Given the description of an element on the screen output the (x, y) to click on. 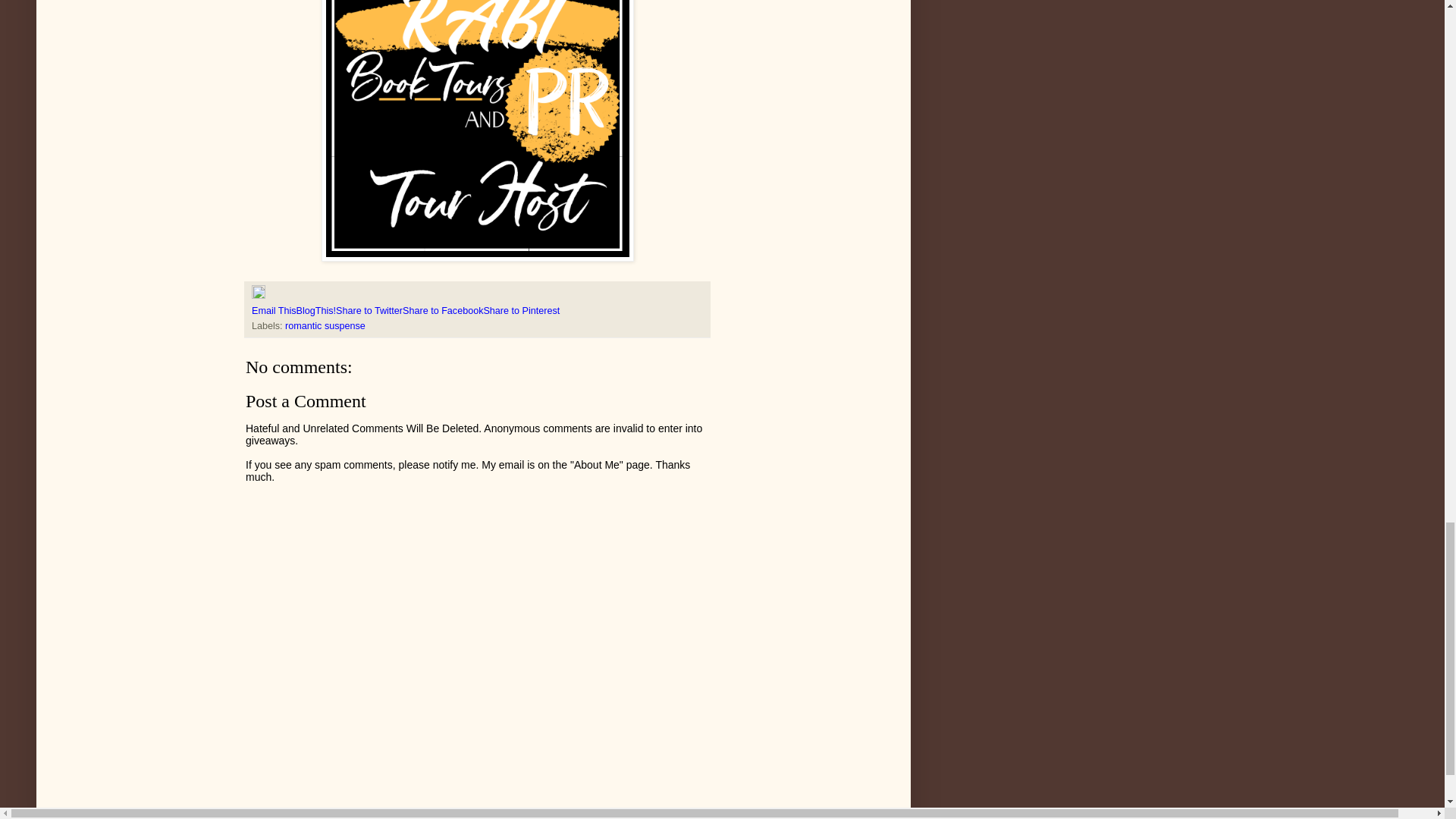
BlogThis! (316, 310)
Share to Pinterest (521, 310)
BlogThis! (316, 310)
Share to Pinterest (521, 310)
Email This (274, 310)
Email This (274, 310)
Edit Post (257, 295)
Share to Facebook (443, 310)
romantic suspense (325, 326)
Share to Facebook (443, 310)
